Given the description of an element on the screen output the (x, y) to click on. 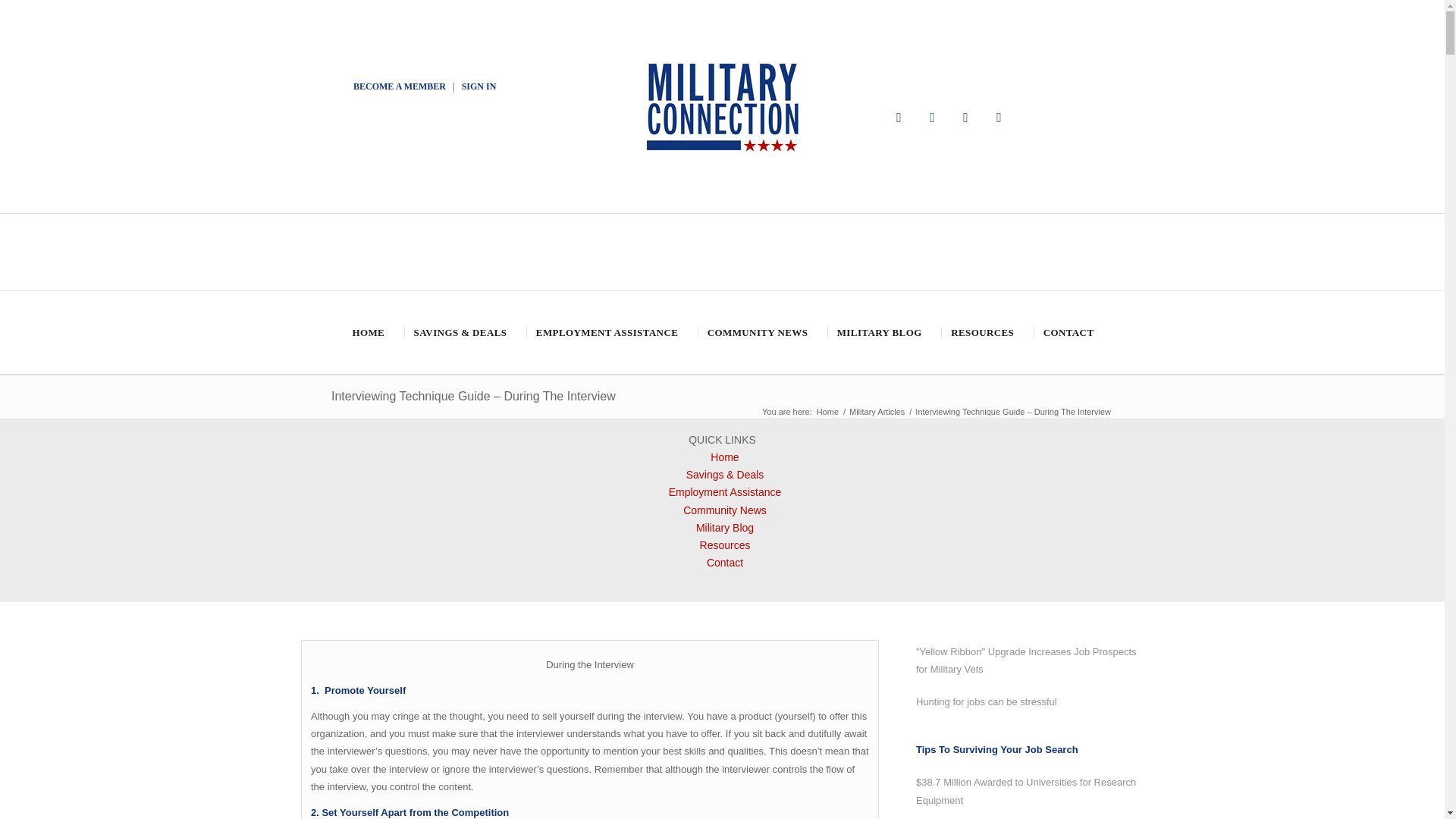
Community News (724, 510)
Home (827, 411)
MILITARY BLOG (878, 332)
LinkedIn (999, 117)
Twitter (932, 117)
Resources (725, 544)
Employment Assistance (724, 491)
COMMUNITY NEWS (756, 332)
SIGN IN (478, 86)
Hunting for jobs can be stressful (1028, 701)
Facebook (899, 117)
BECOME A MEMBER (399, 86)
Military Articles (877, 411)
Pinterest (965, 117)
